Given the description of an element on the screen output the (x, y) to click on. 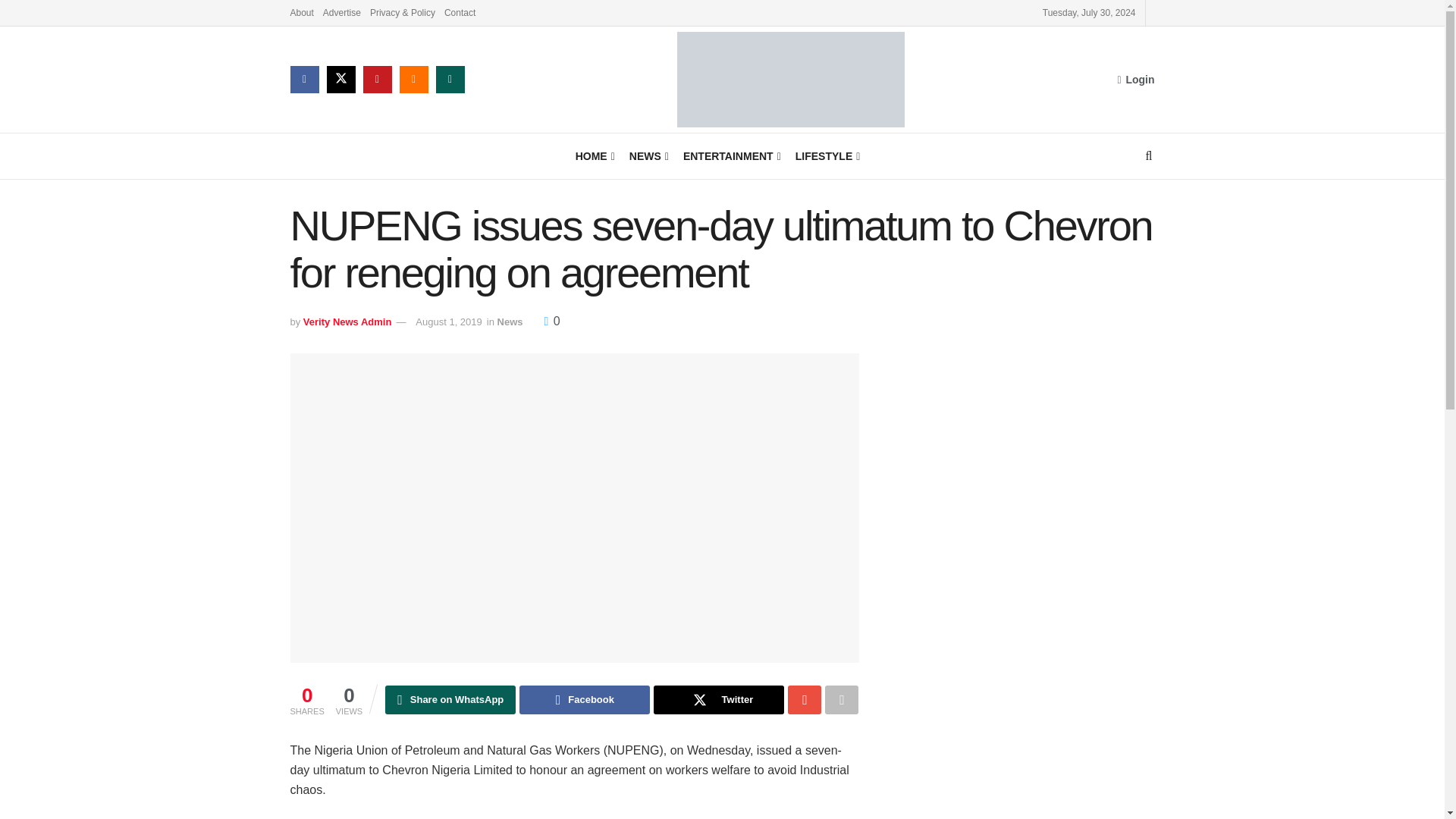
Contact (460, 12)
NEWS (647, 156)
ENTERTAINMENT (730, 156)
HOME (593, 156)
Advertise (342, 12)
Login (1135, 79)
About (301, 12)
